Given the description of an element on the screen output the (x, y) to click on. 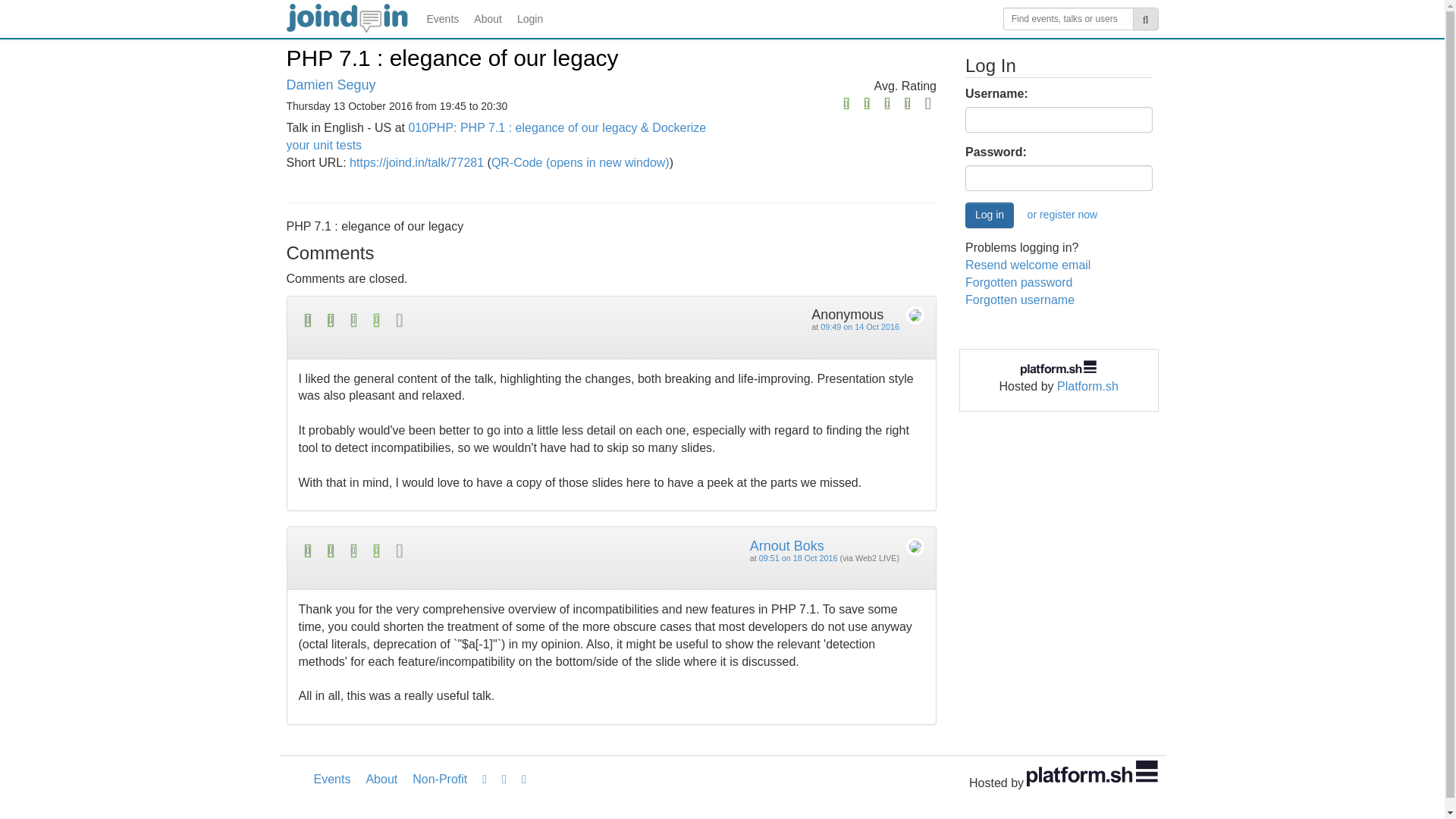
About (487, 18)
Log in (989, 215)
Damien Seguy (330, 84)
Login (529, 18)
Rated 4 (454, 320)
Events (331, 779)
Platform.sh (1087, 386)
Arnout Boks (786, 545)
09:49 on 14 Oct 2016 (860, 326)
09:51 on 18 Oct 2016 (798, 557)
